Given the description of an element on the screen output the (x, y) to click on. 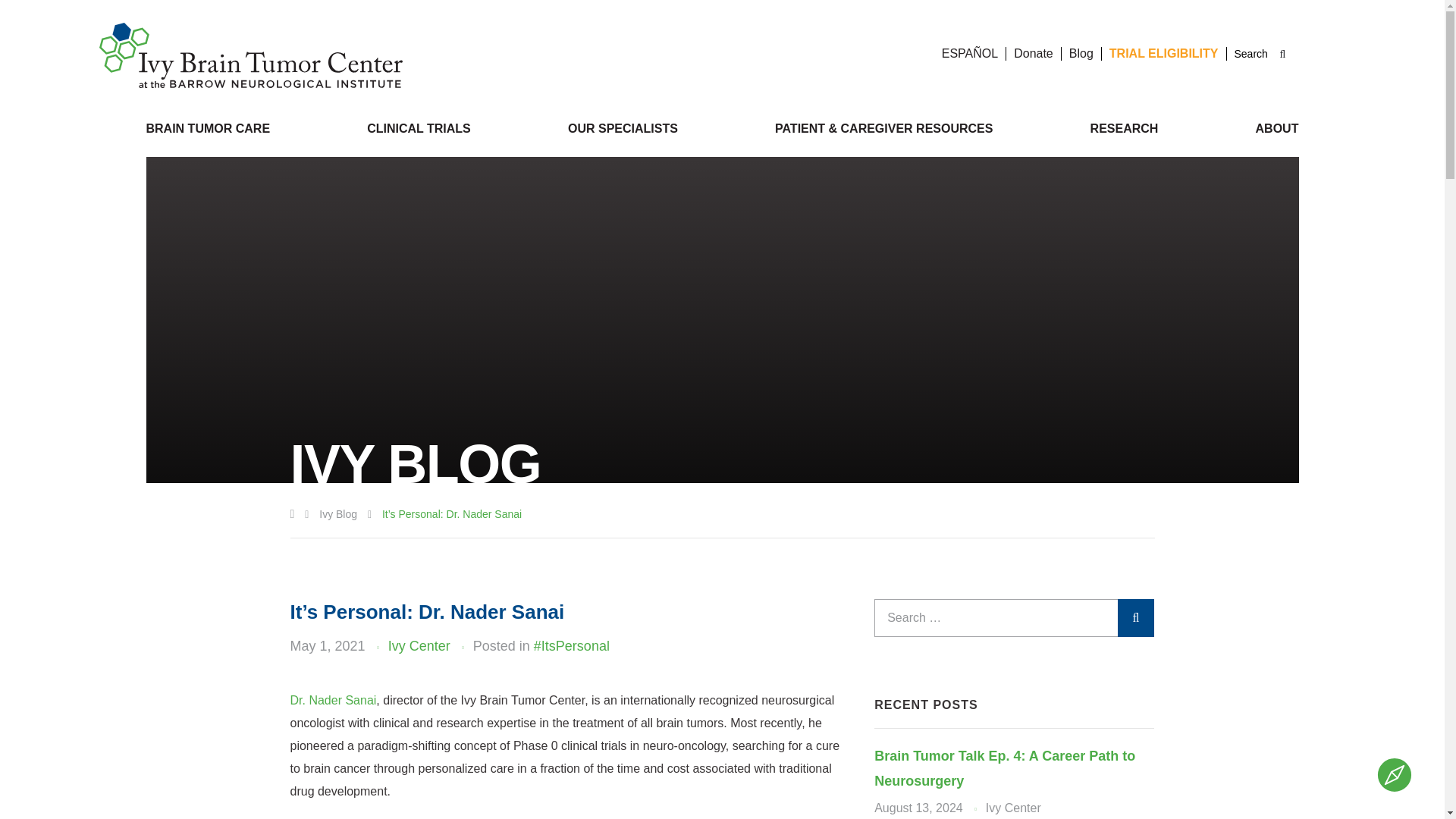
Search for (1256, 54)
Donate (1032, 53)
Ivy Brain Tumor Center (250, 54)
TRIAL ELIGIBILITY (1163, 53)
BRAIN TUMOR CARE (207, 128)
CLINICAL TRIALS (418, 128)
Blog (1080, 53)
Search for (1014, 617)
OUR SPECIALISTS (622, 128)
